Given the description of an element on the screen output the (x, y) to click on. 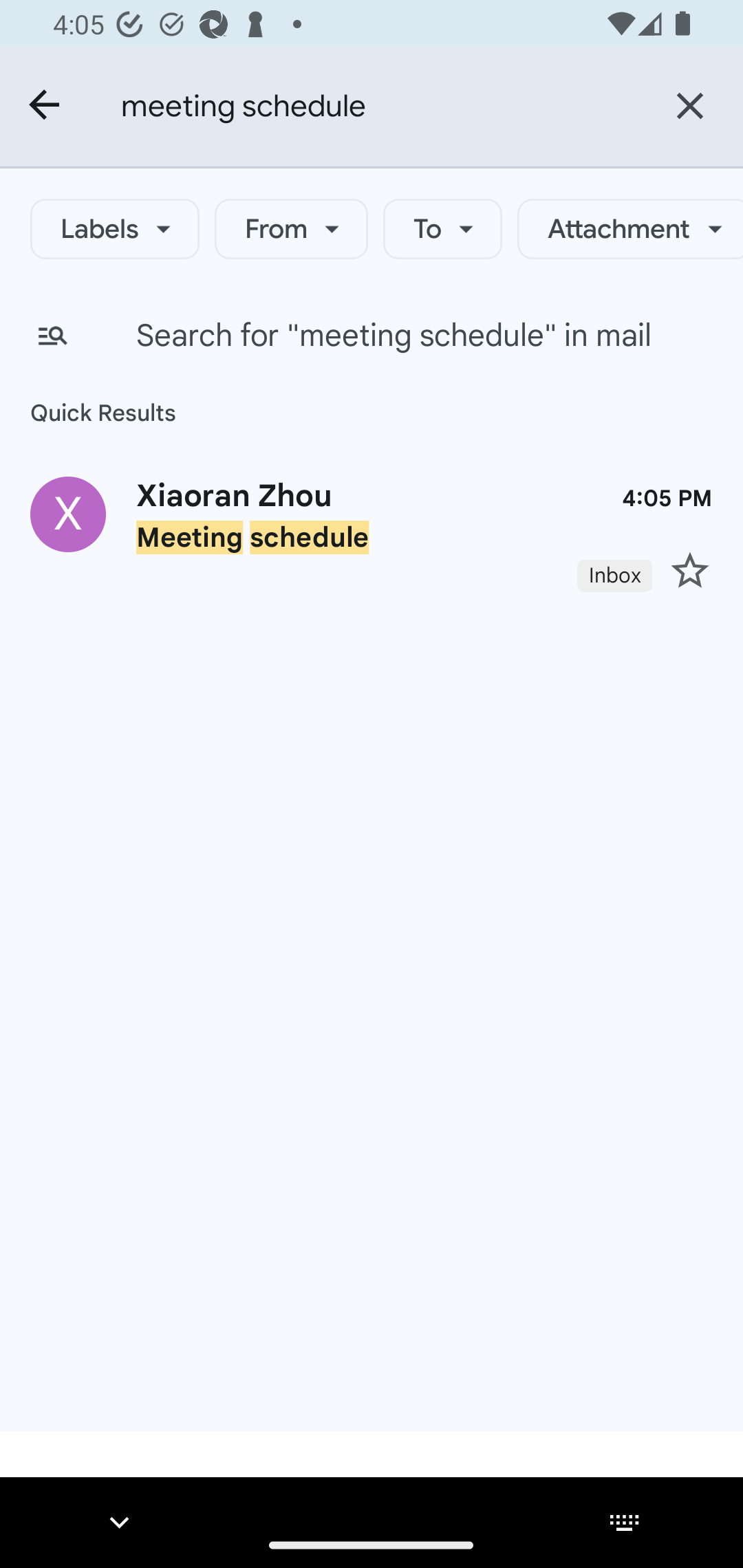
Back (45, 105)
meeting schedule (378, 105)
Clear text (689, 105)
Labels (114, 228)
From (290, 228)
To (442, 228)
Attachment (630, 228)
Search for "meeting schedule" in mail (371, 335)
